Given the description of an element on the screen output the (x, y) to click on. 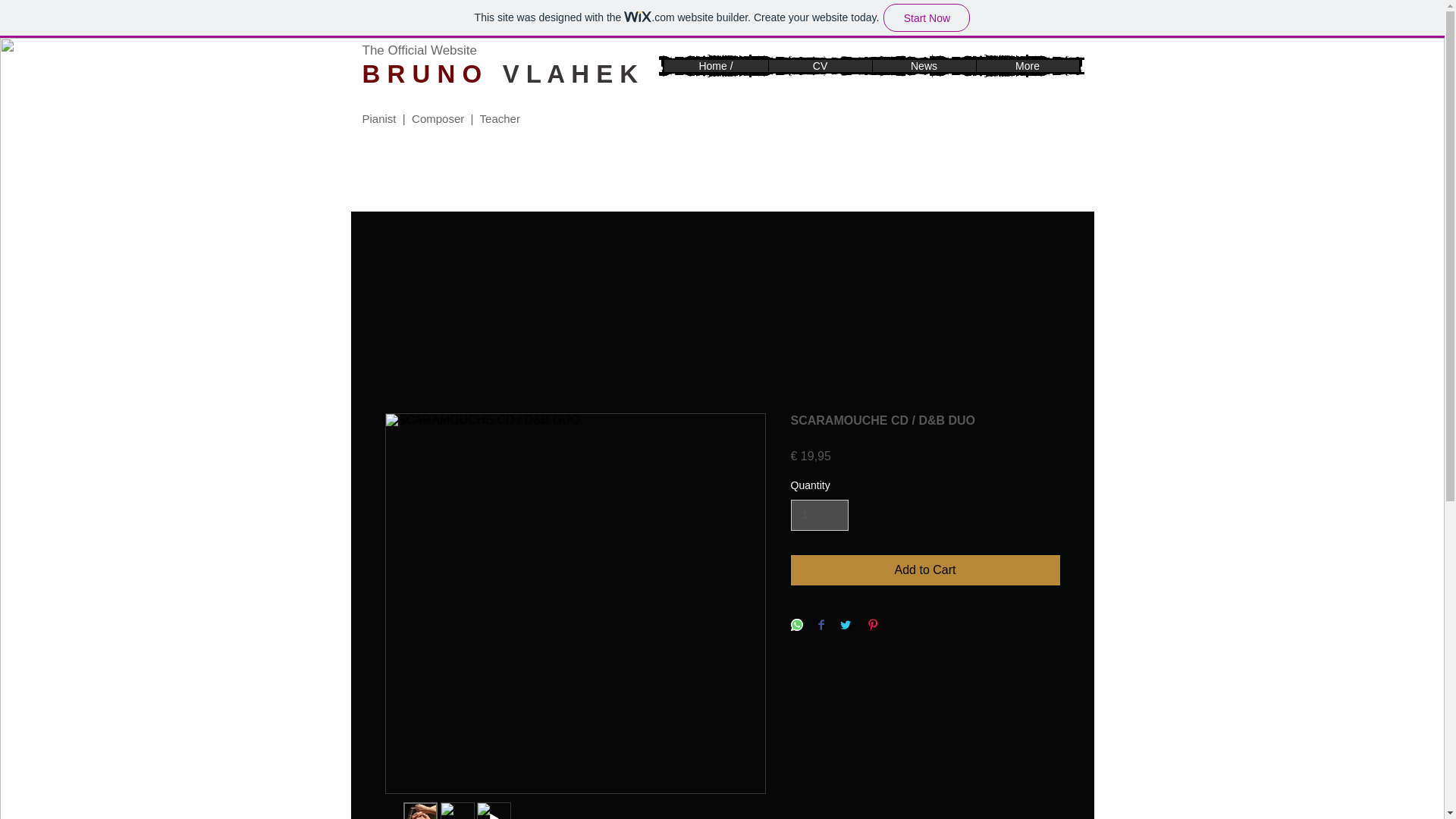
The Official Website (419, 50)
1 (818, 514)
CV (818, 65)
B R U N O   V L A H E K (500, 73)
News (923, 65)
Add to Cart (924, 570)
